Given the description of an element on the screen output the (x, y) to click on. 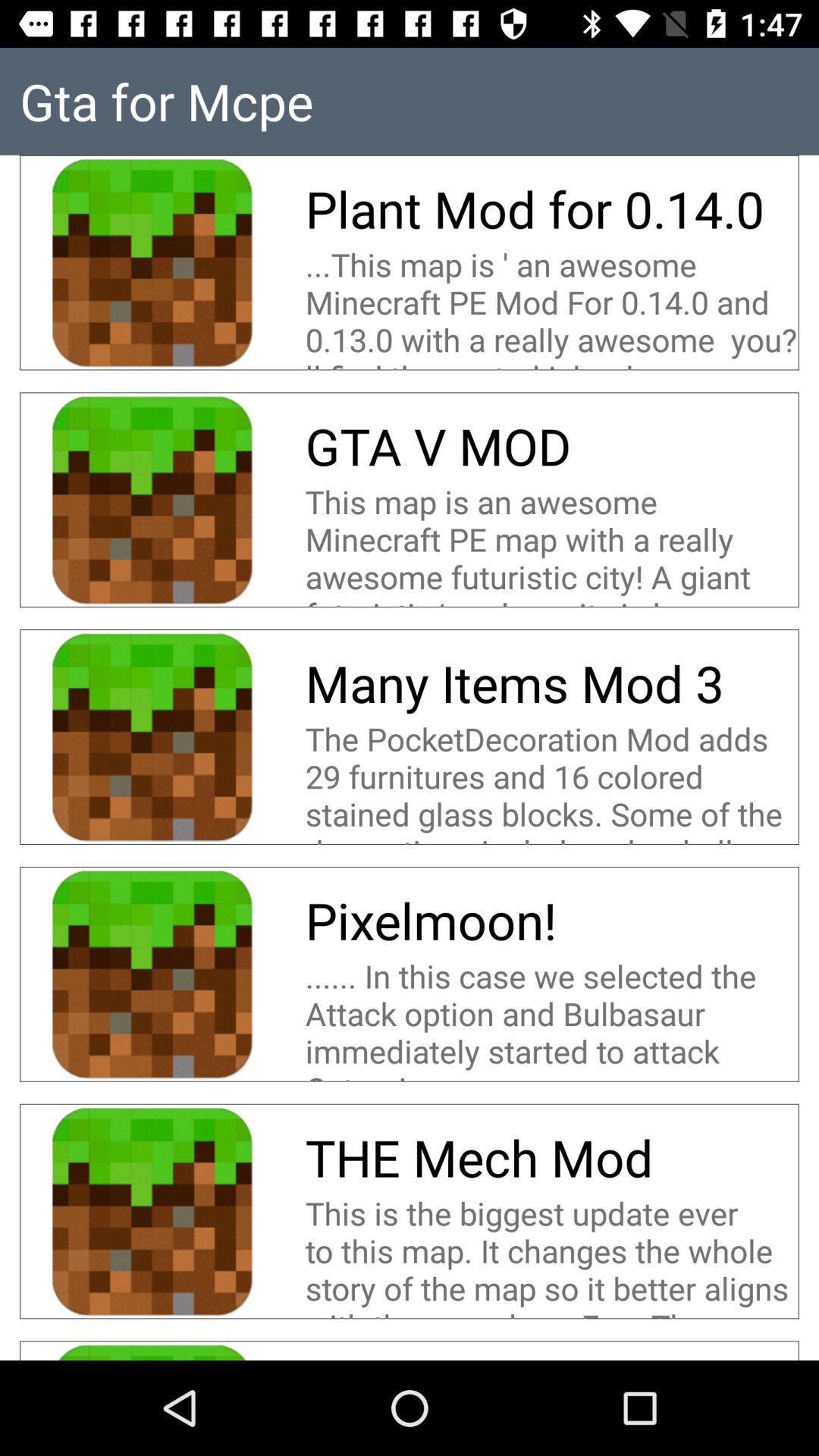
turn off the app below the this map is app (438, 446)
